Given the description of an element on the screen output the (x, y) to click on. 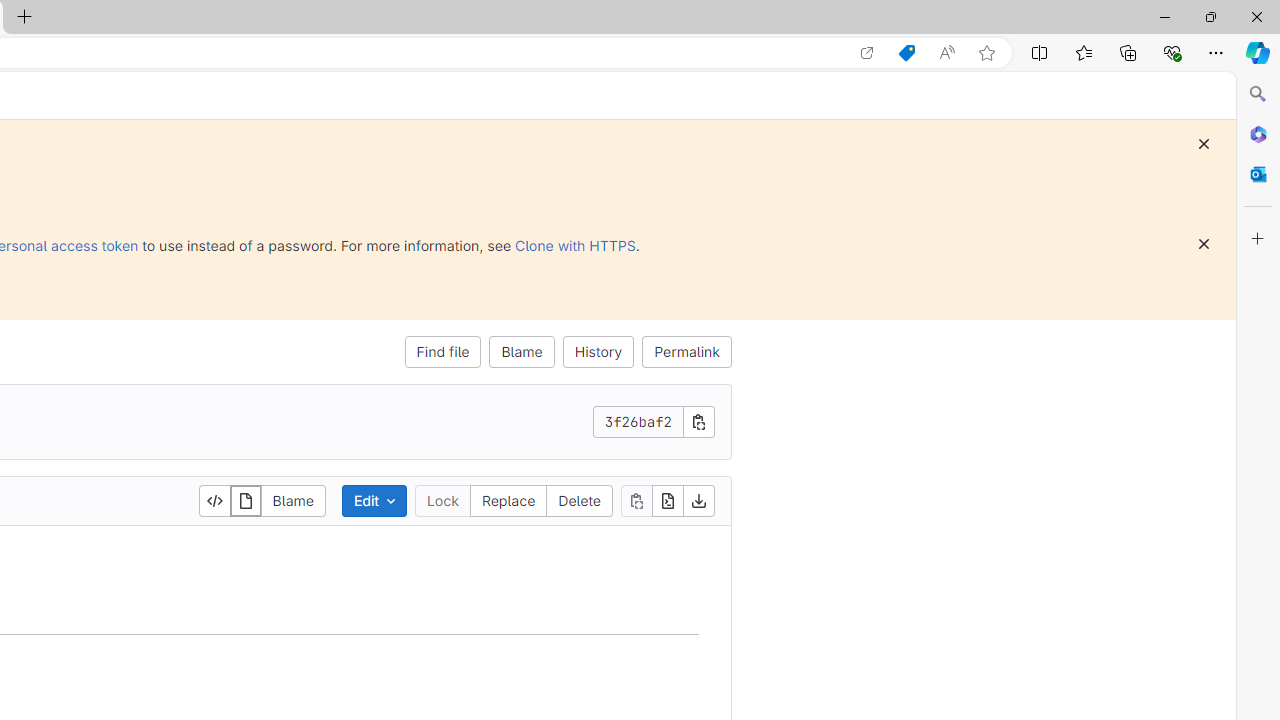
History (597, 351)
Class: s16 gl-icon gl-button-icon  (1203, 243)
Display source (214, 500)
Clone with HTTPS (575, 245)
Edit (373, 500)
Lock (442, 500)
Download (699, 500)
Blame (292, 500)
